Given the description of an element on the screen output the (x, y) to click on. 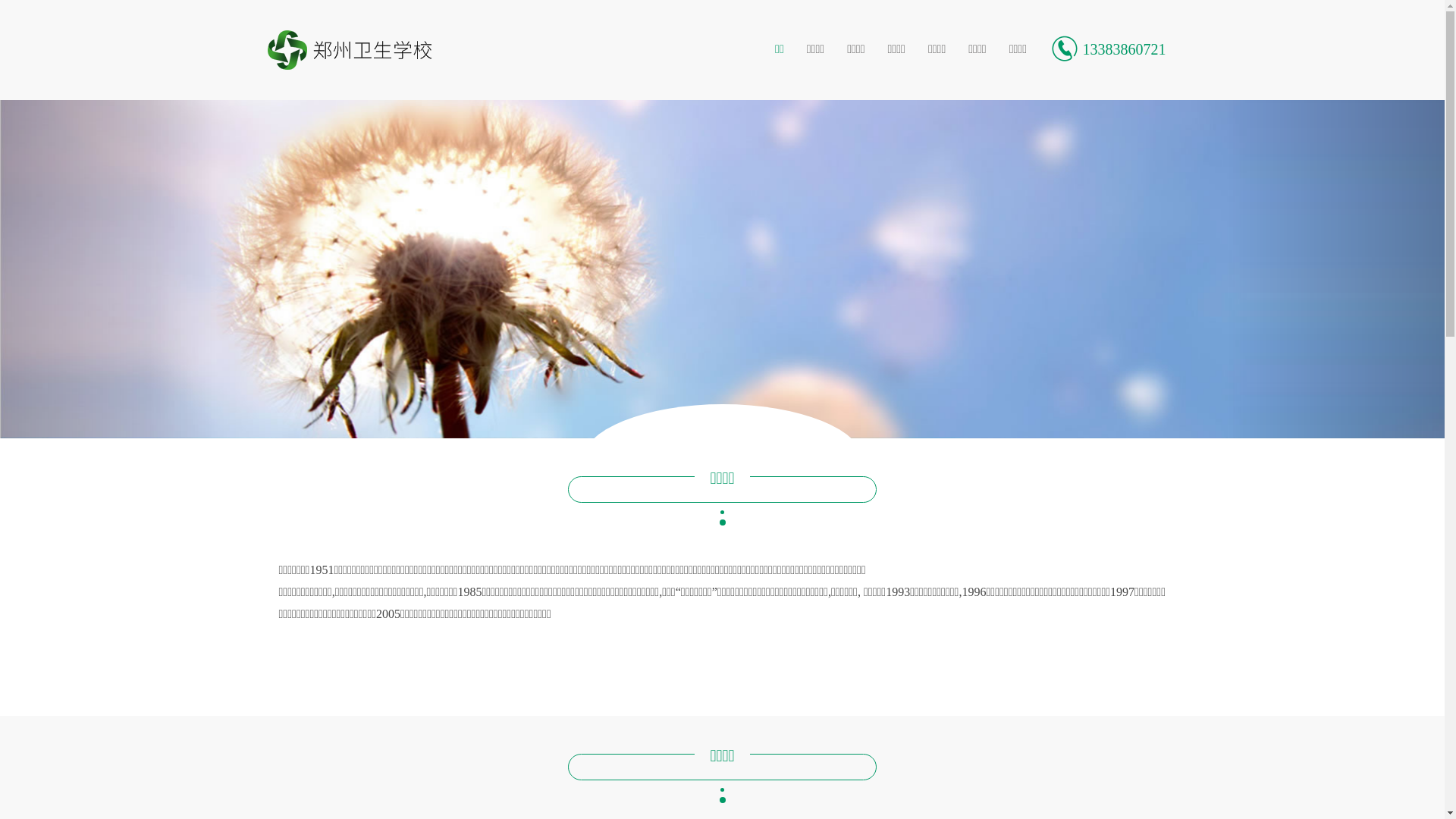
13383860721 Element type: text (1107, 49)
